Given the description of an element on the screen output the (x, y) to click on. 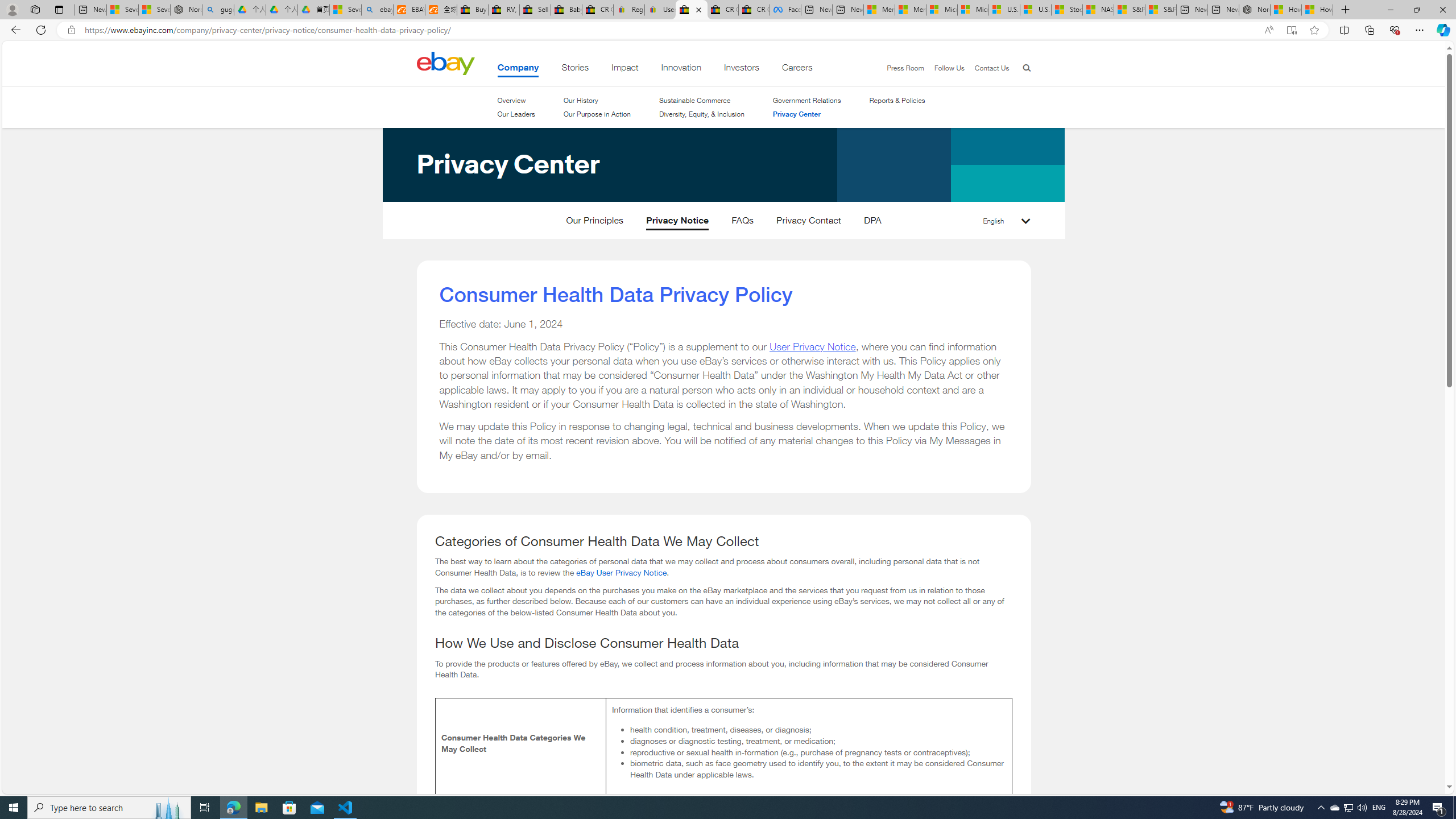
Contact Us (991, 67)
Impact (625, 69)
Our Leaders (515, 113)
Overview (510, 99)
Government Relations (806, 100)
Enter Immersive Reader (F9) (1291, 29)
Facebook (785, 9)
